Given the description of an element on the screen output the (x, y) to click on. 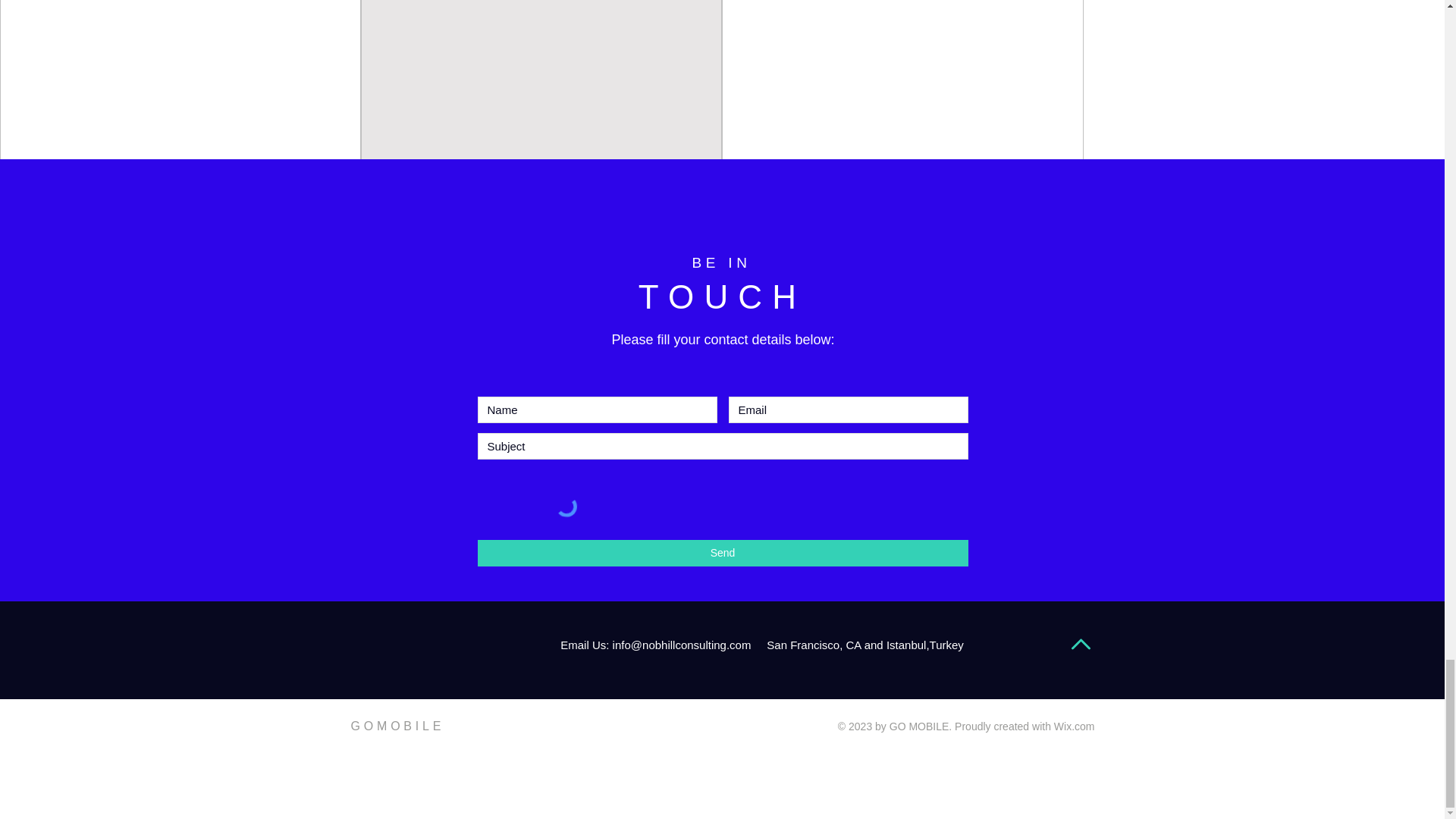
 Email Us: info (593, 644)
GOMOBILE (397, 725)
Send (722, 552)
Wix.com (1074, 726)
